Given the description of an element on the screen output the (x, y) to click on. 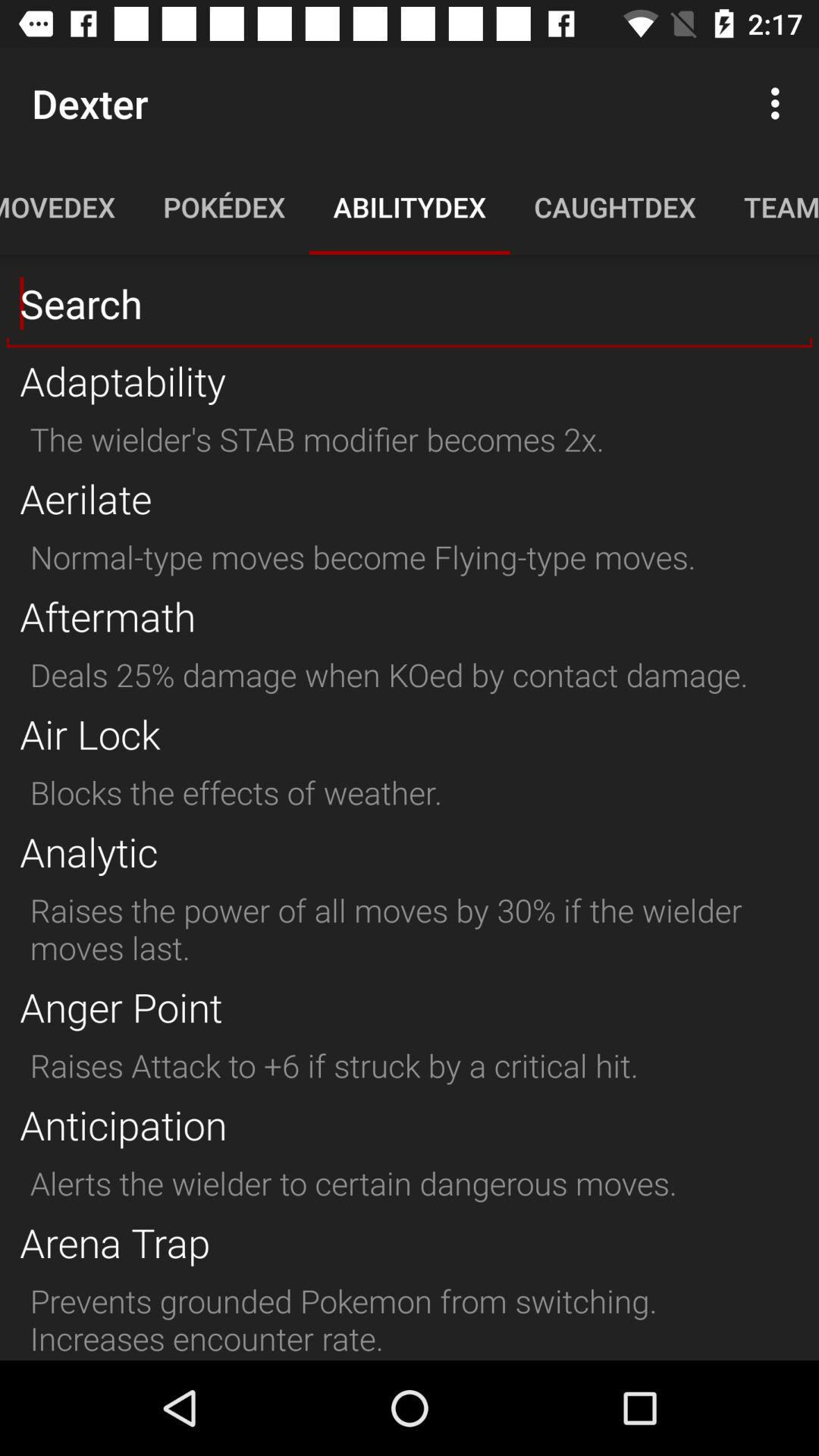
select the item below movedex item (409, 304)
